Given the description of an element on the screen output the (x, y) to click on. 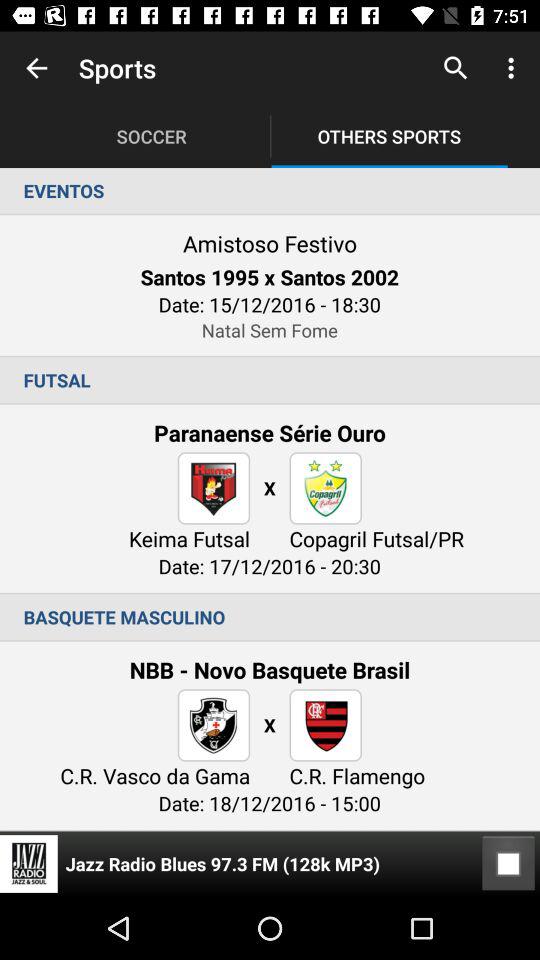
launch the icon at the bottom right corner (508, 863)
